Given the description of an element on the screen output the (x, y) to click on. 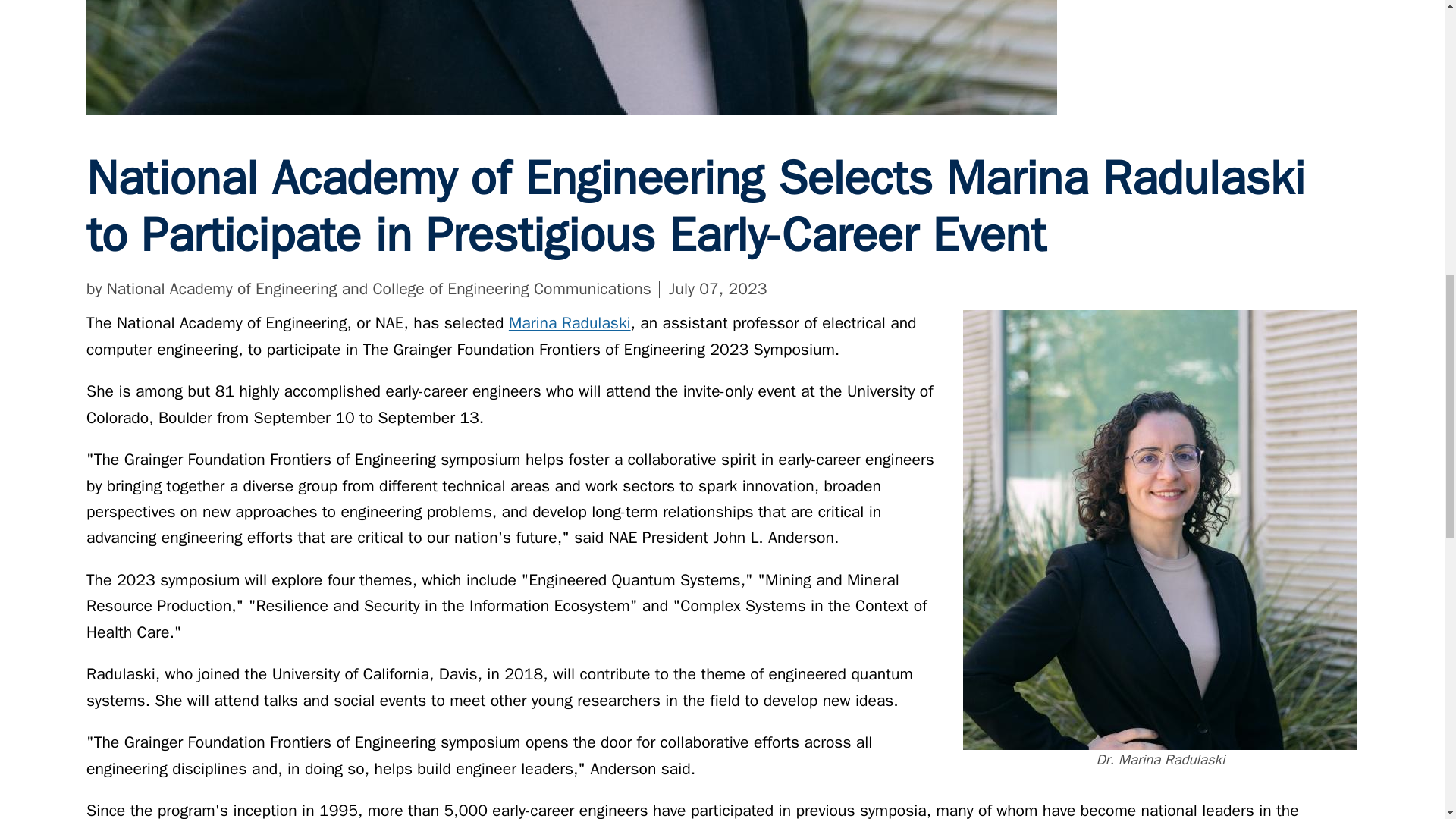
Marina Radulaski (569, 322)
Friday, July 7, 2023 - 10:57am (717, 288)
